Given the description of an element on the screen output the (x, y) to click on. 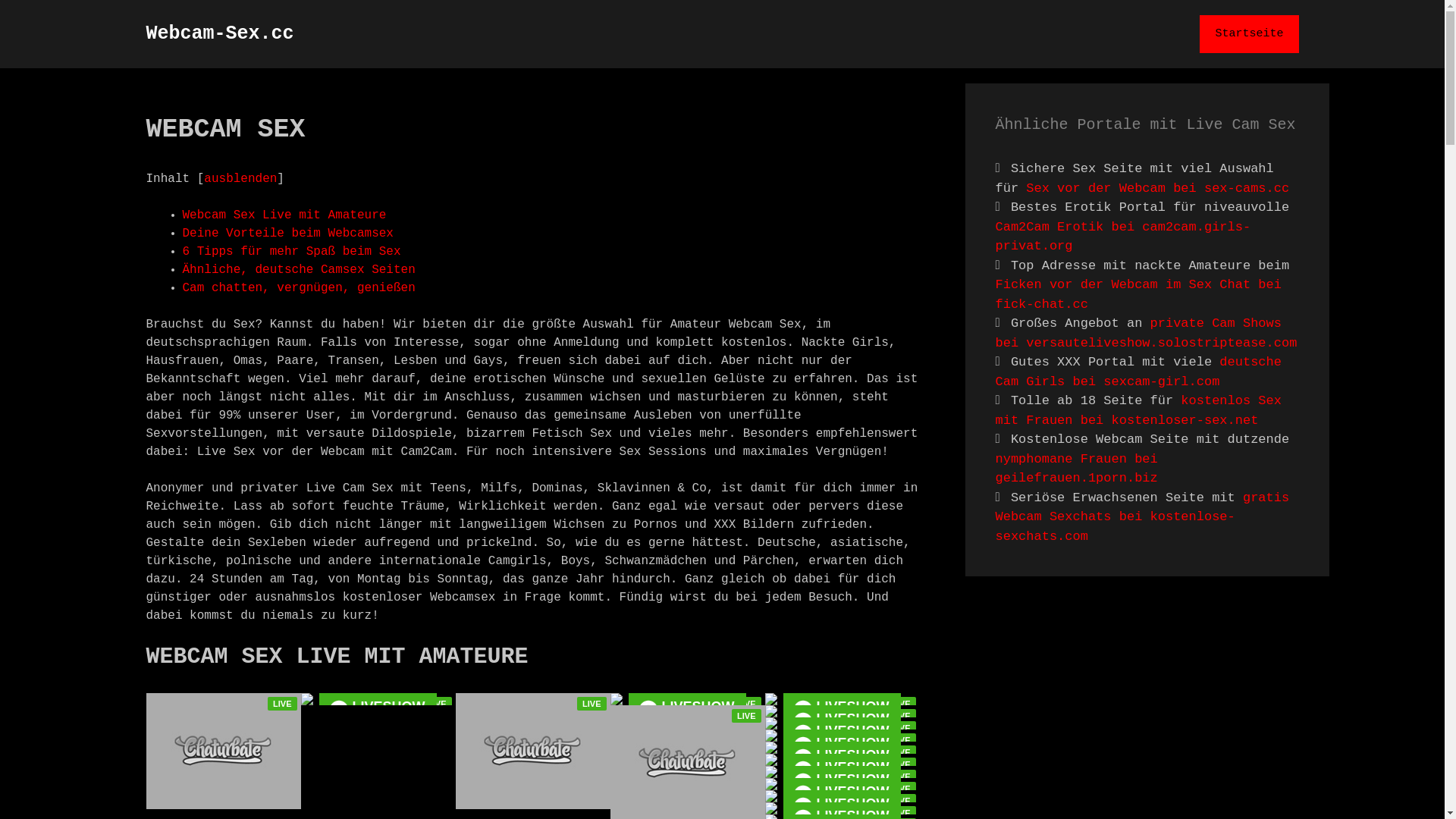
LIVE Element type: text (900, 727)
gratis Webcam Sexchats bei kostenlose-sexchats.com Element type: text (1141, 515)
LIVESHOW Element type: text (841, 771)
LIVE Element type: text (900, 715)
LIVESHOW Element type: text (841, 722)
LIVESHOW Element type: text (841, 795)
LIVE Element type: text (900, 763)
LIVESHOW Element type: text (841, 710)
LIVESHOW Element type: text (377, 710)
LIVE Element type: text (282, 703)
Cam2Cam Erotik bei cam2cam.girls-privat.org Element type: text (1122, 236)
LIVE Element type: text (900, 776)
Webcam-Sex.cc Element type: text (219, 33)
deutsche Cam Girls bei sexcam-girl.com Element type: text (1137, 371)
Deine Vorteile beim Webcamsex Element type: text (287, 233)
LIVE Element type: text (900, 800)
LIVE Element type: text (746, 715)
LIVESHOW Element type: text (841, 734)
LIVESHOW Element type: text (841, 747)
Ficken vor der Webcam im Sex Chat bei fick-chat.cc Element type: text (1137, 294)
private Cam Shows bei versauteliveshow.solostriptease.com Element type: text (1145, 333)
LIVE Element type: text (591, 703)
LIVE Element type: text (746, 703)
nymphomane Frauen bei geilefrauen.1porn.biz Element type: text (1075, 468)
LIVE Element type: text (900, 812)
Startseite Element type: text (1248, 34)
LIVE Element type: text (900, 751)
Webcam Sex Live mit Amateure Element type: text (283, 215)
LIVESHOW Element type: text (841, 759)
LIVE Element type: text (436, 703)
LIVESHOW Element type: text (841, 783)
LIVE Element type: text (900, 703)
LIVE Element type: text (900, 788)
ausblenden Element type: text (239, 178)
LIVE Element type: text (900, 739)
Sex vor der Webcam bei sex-cams.cc Element type: text (1157, 187)
kostenlos Sex mit Frauen bei kostenloser-sex.net Element type: text (1137, 410)
LIVESHOW Element type: text (686, 710)
